Given the description of an element on the screen output the (x, y) to click on. 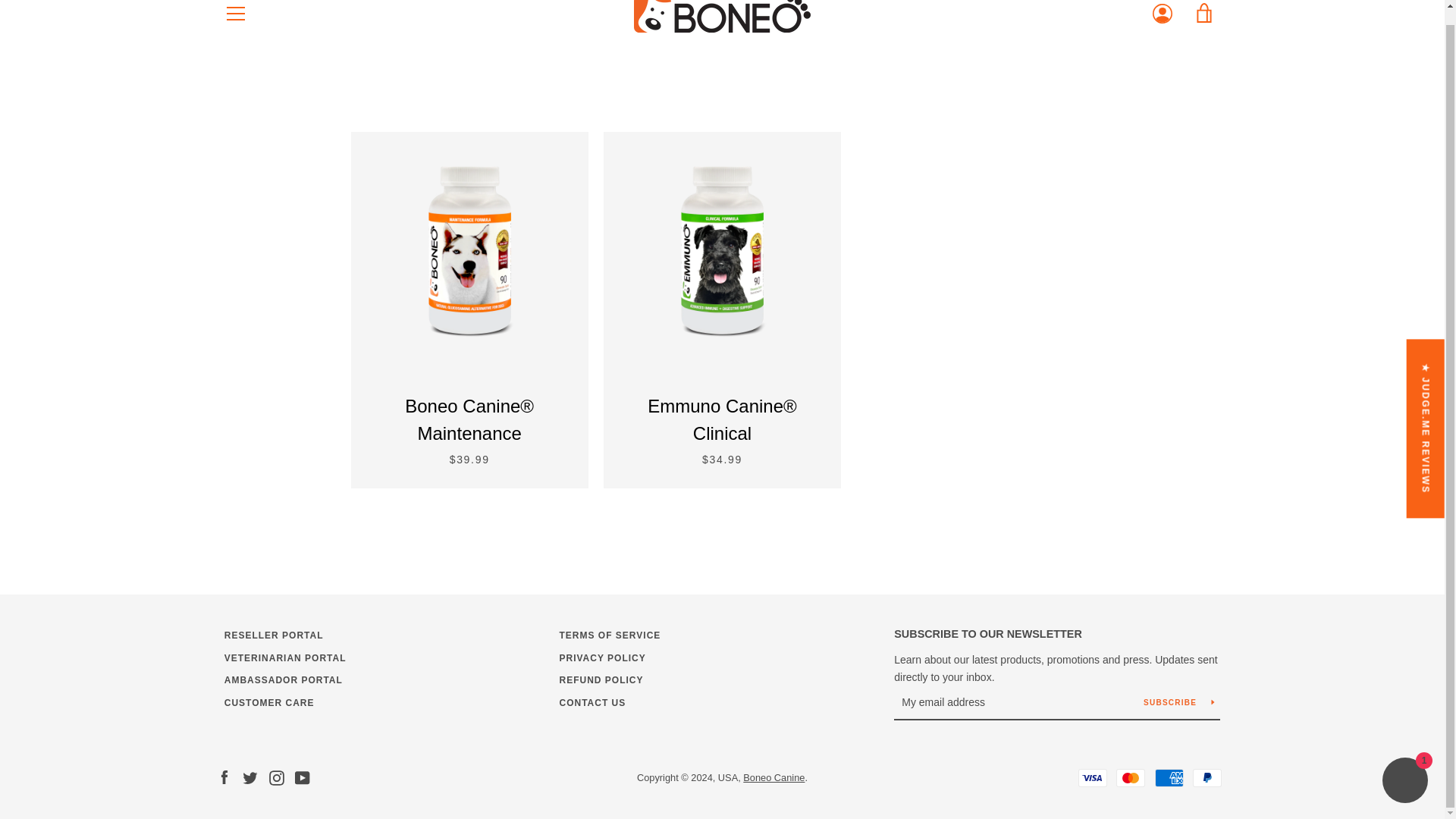
Mastercard (1130, 778)
AMBASSADOR PORTAL (283, 679)
Boneo Canine on Instagram (276, 776)
Visa (1092, 778)
VETERINARIAN PORTAL (285, 657)
RESELLER PORTAL (273, 634)
Boneo Canine on Twitter (250, 776)
MENU (235, 16)
VIEW CART (1205, 16)
PayPal (1206, 778)
CUSTOMER CARE (269, 702)
Boneo Canine on YouTube (302, 776)
Boneo Canine on Facebook (223, 776)
American Express (1168, 778)
